Given the description of an element on the screen output the (x, y) to click on. 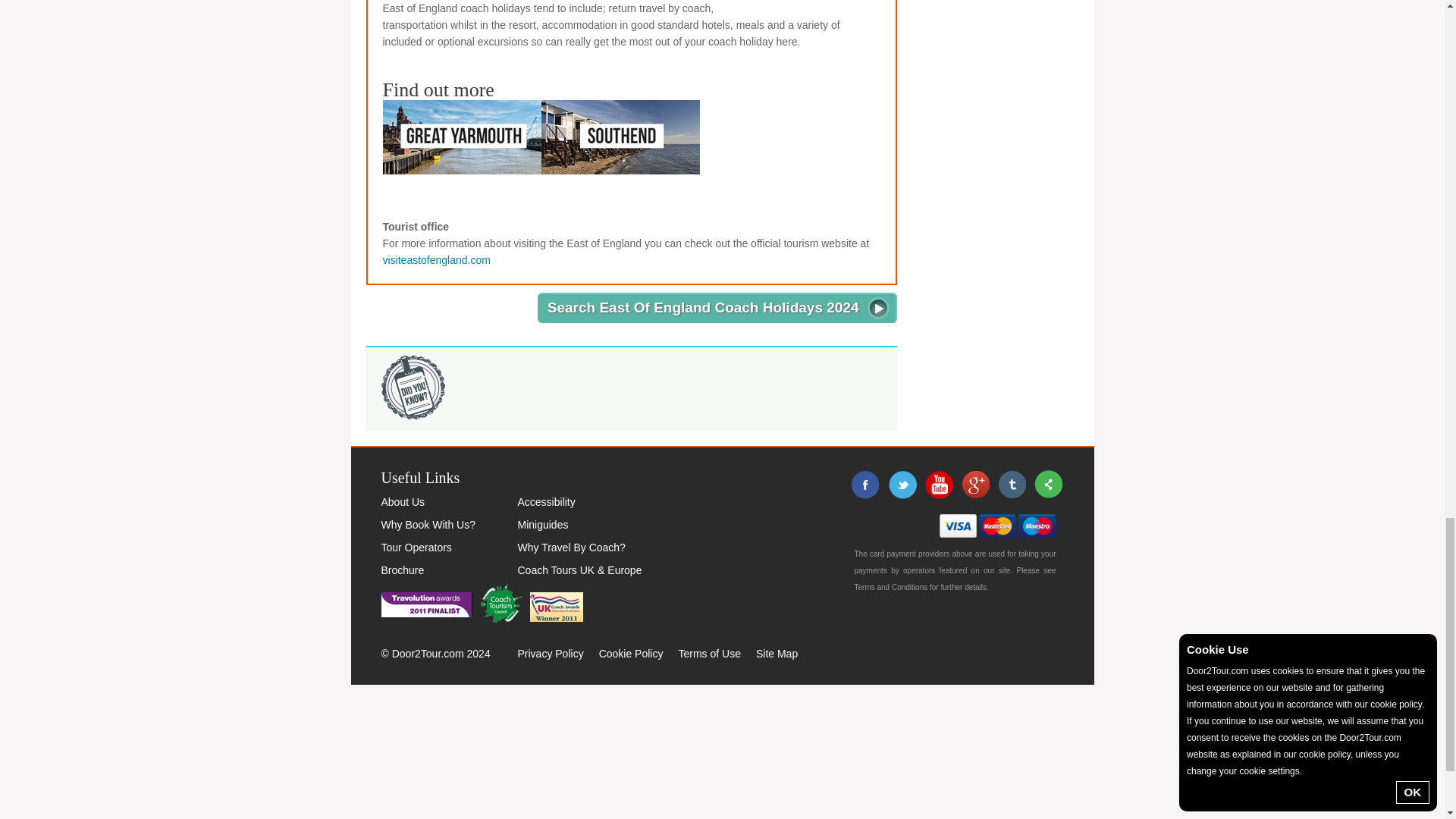
Southwold (799, 1)
Great Yarmouth coach holidays (460, 136)
Search East of England Coach Holidays 2024 (716, 307)
Search East of England Coach Holidays 2024 (716, 307)
Great Yarmouth (460, 136)
